Given the description of an element on the screen output the (x, y) to click on. 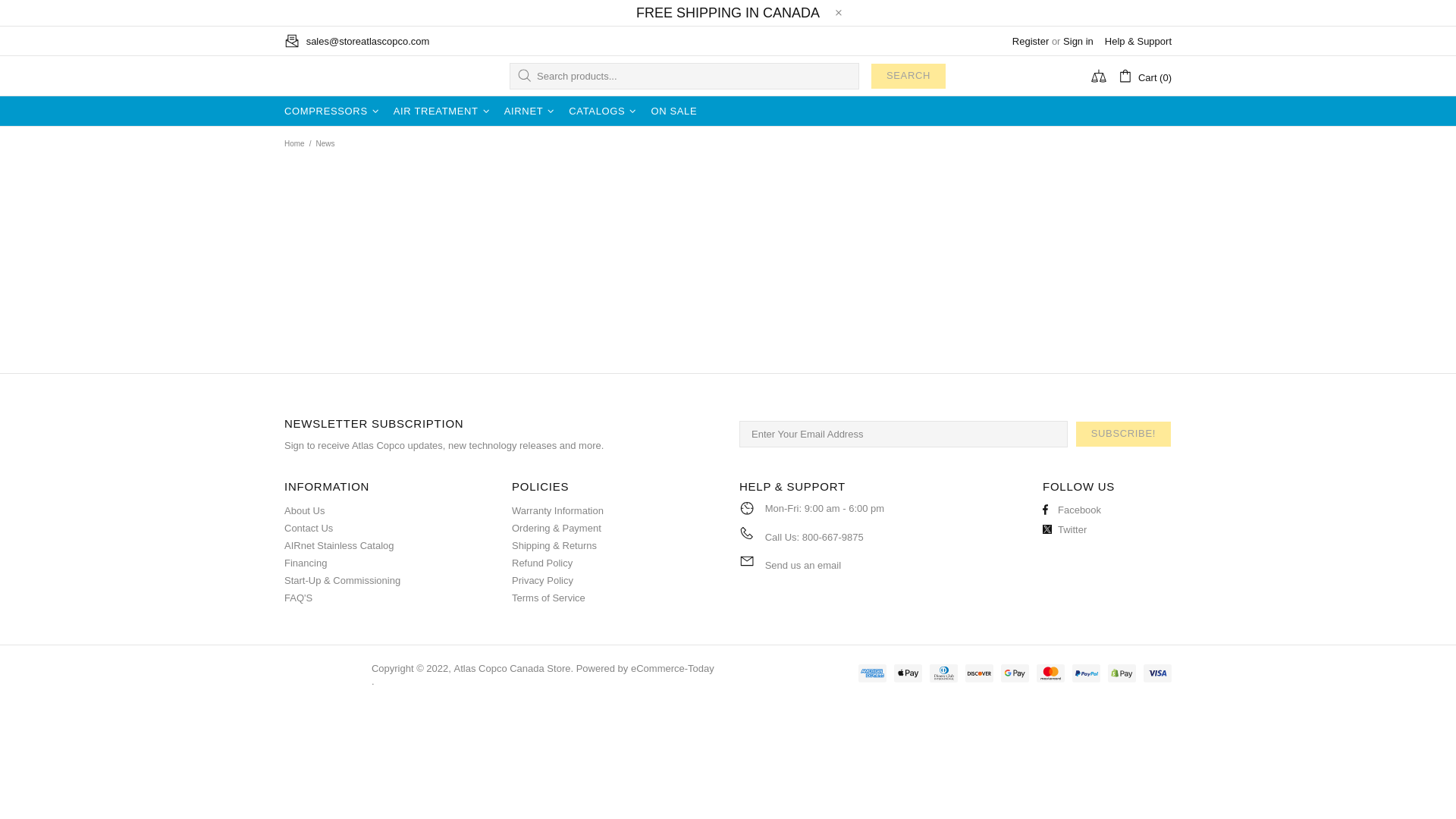
eCommerce Today - Shopify Agency (672, 667)
support telephone number (832, 536)
Sign in (1077, 41)
SEARCH (908, 75)
SUBSCRIBE! (1123, 433)
Atlas Copco Canada Store (321, 75)
AIRNET (531, 111)
AIR TREATMENT (443, 111)
customer support email (803, 564)
COMPRESSORS (333, 111)
